Given the description of an element on the screen output the (x, y) to click on. 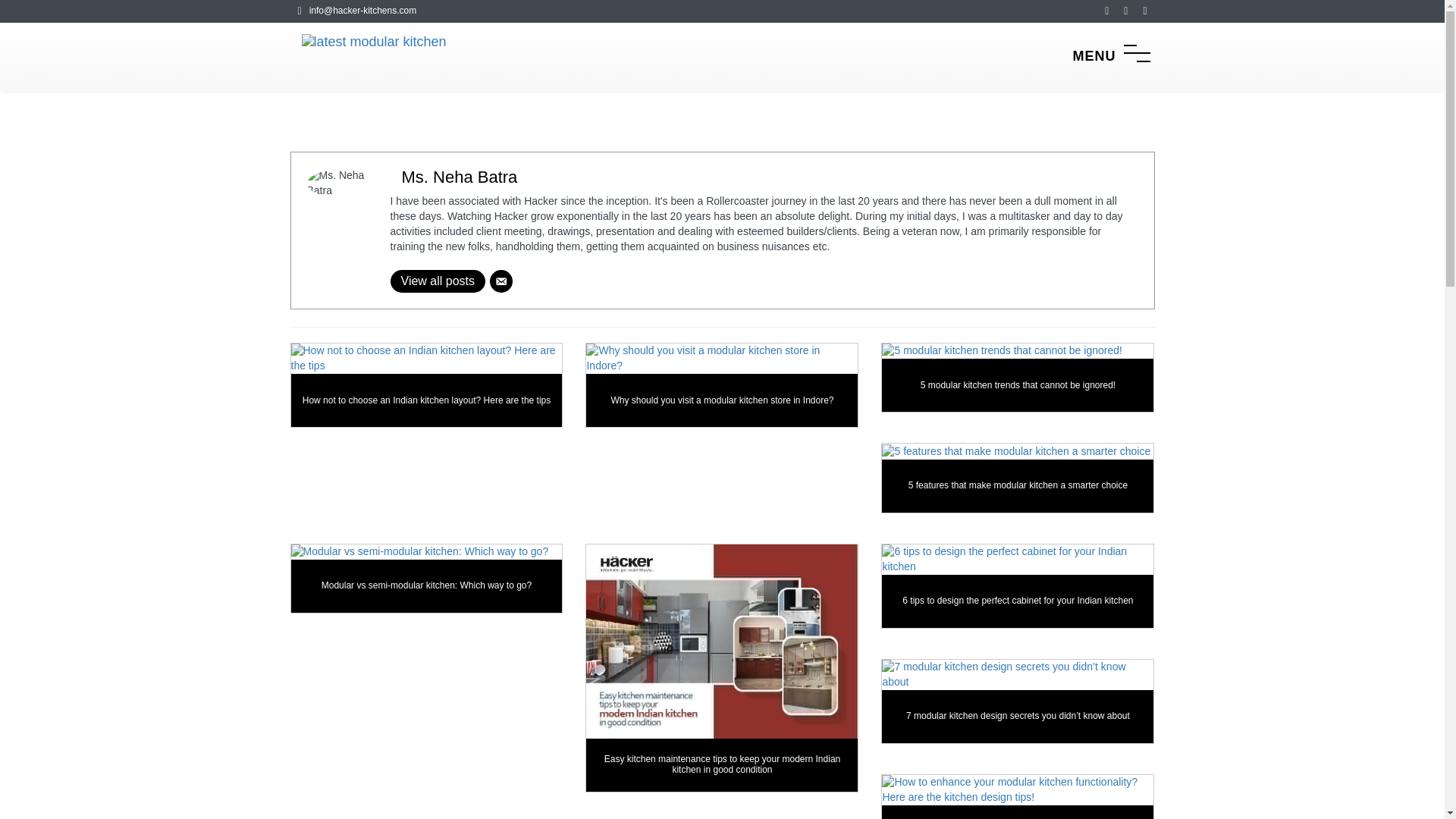
MENU (1110, 56)
View all posts (437, 281)
Ms. Neha Batra (763, 177)
Ms. Neha Batra (763, 177)
5 modular kitchen trends that cannot be ignored! (1017, 377)
View all posts (437, 281)
Why should you visit a modular kitchen store in Indore? (721, 389)
5 features that make modular kitchen a smarter choice (1017, 477)
6 tips to design the perfect cabinet for your Indian kitchen (1017, 589)
Modular vs semi-modular kitchen: Which way to go? (426, 578)
